Given the description of an element on the screen output the (x, y) to click on. 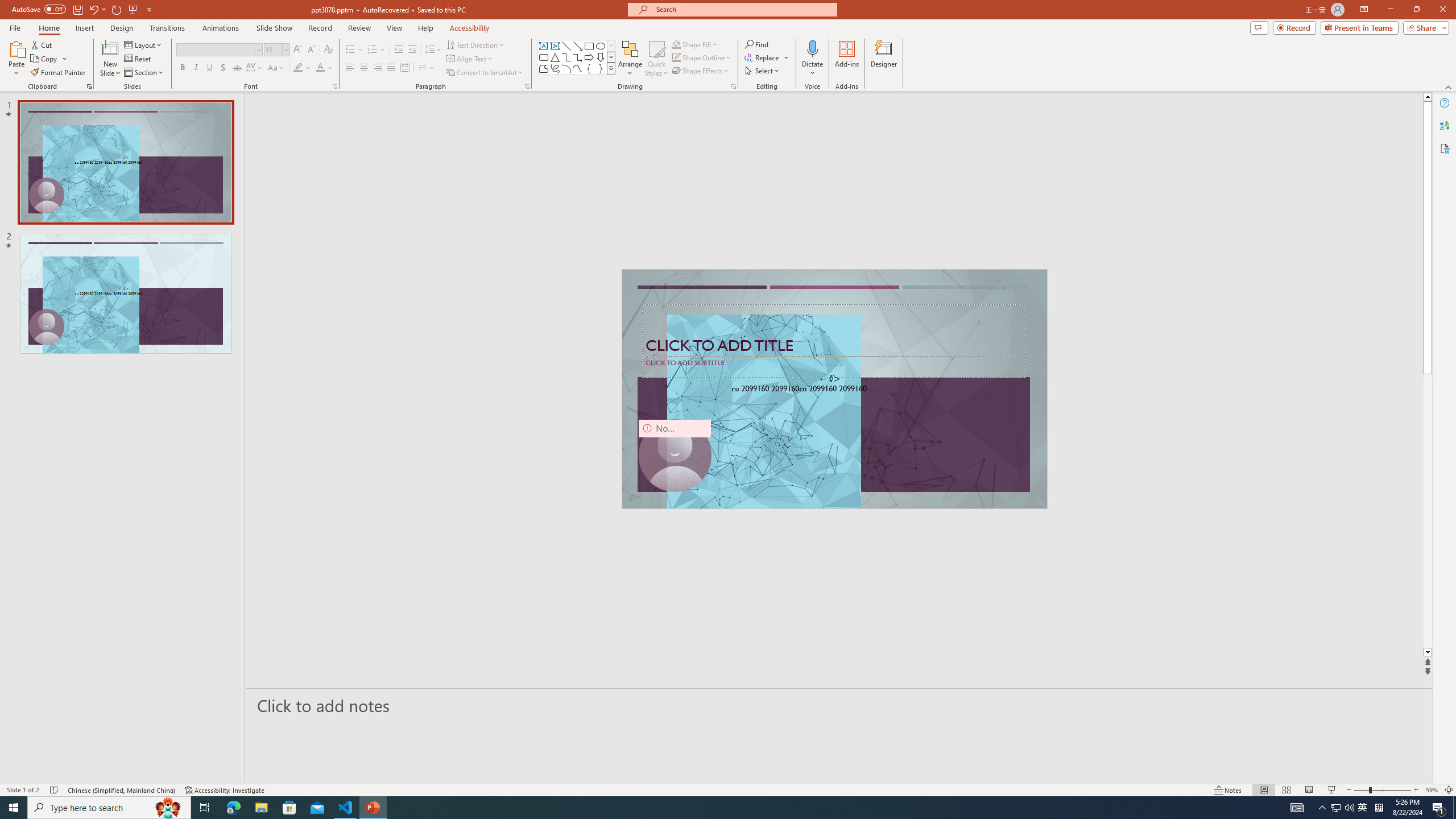
Clear Formatting (327, 49)
Right Brace (600, 68)
Underline (209, 67)
Change Case (276, 67)
Layout (143, 44)
Slide Notes (839, 705)
TextBox 61 (833, 389)
Freeform: Scribble (554, 68)
Curve (577, 68)
